Given the description of an element on the screen output the (x, y) to click on. 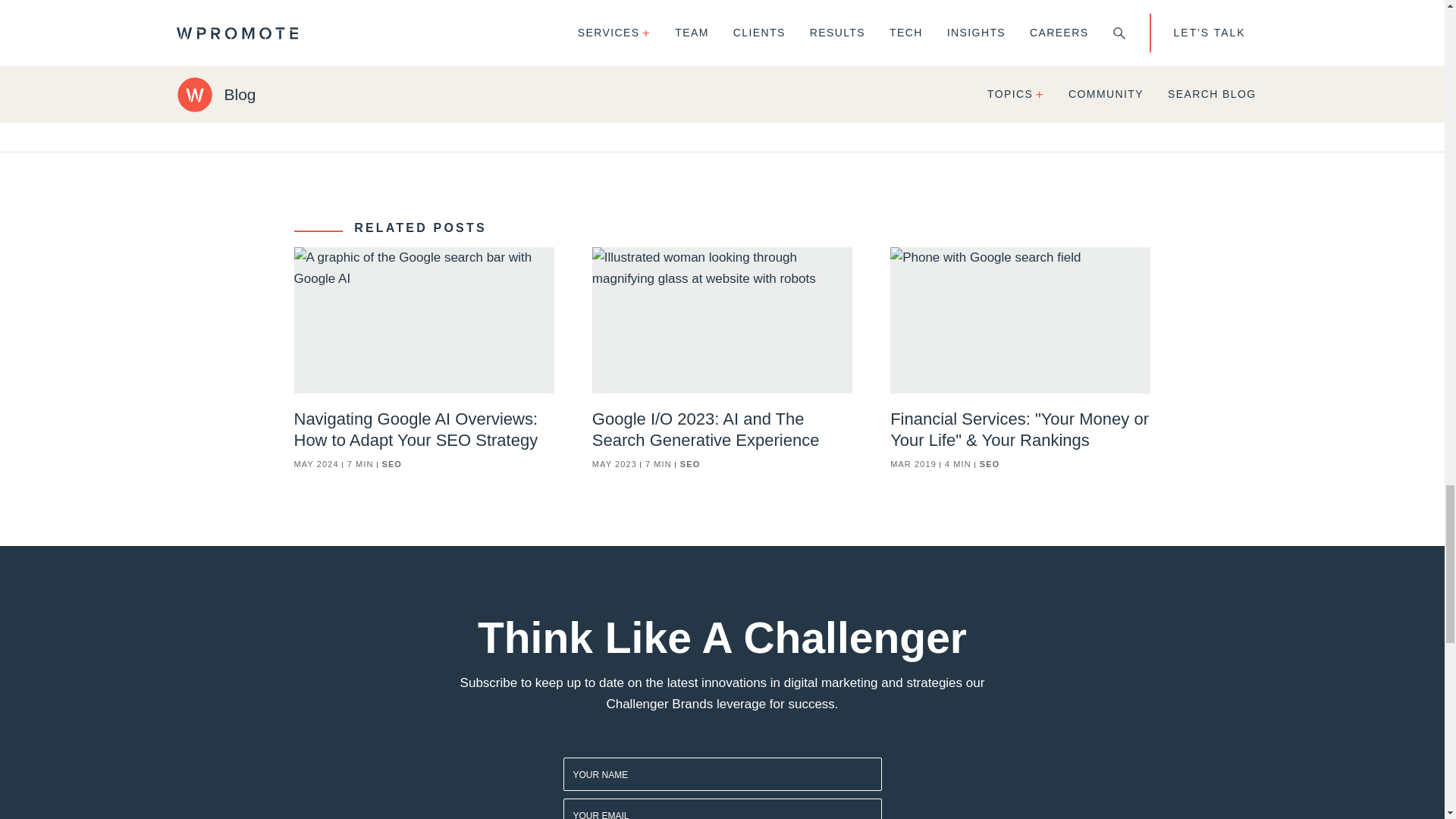
Post Response (484, 69)
Post Response (484, 69)
SEO (697, 464)
SEO (400, 464)
SEO (997, 464)
yes (444, 25)
